Given the description of an element on the screen output the (x, y) to click on. 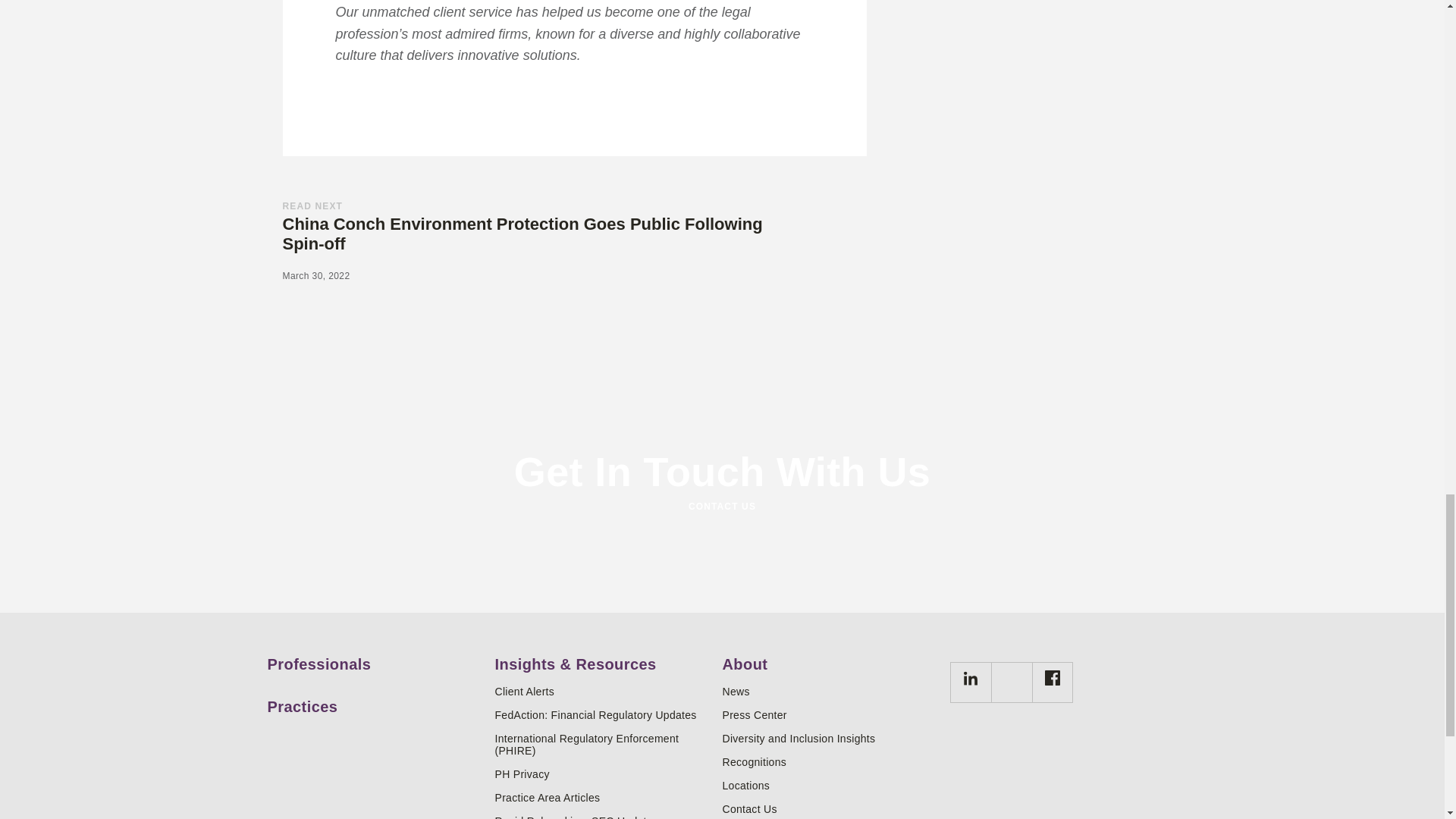
CB6A0679-7CD4-47AB-9AF9-079521319001Created with sketchtool. (969, 677)
Professionals (374, 658)
BC42128A-F0DE-4FE2-9372-6CDE6D4F5957Created with sketchtool. (1052, 677)
Practice Area Articles (602, 797)
CONTACT US (721, 506)
PH Privacy (602, 774)
FedAction: Financial Regulatory Updates (602, 715)
Practices (374, 700)
Rapid Rulemaking: SEC Update (602, 816)
